Given the description of an element on the screen output the (x, y) to click on. 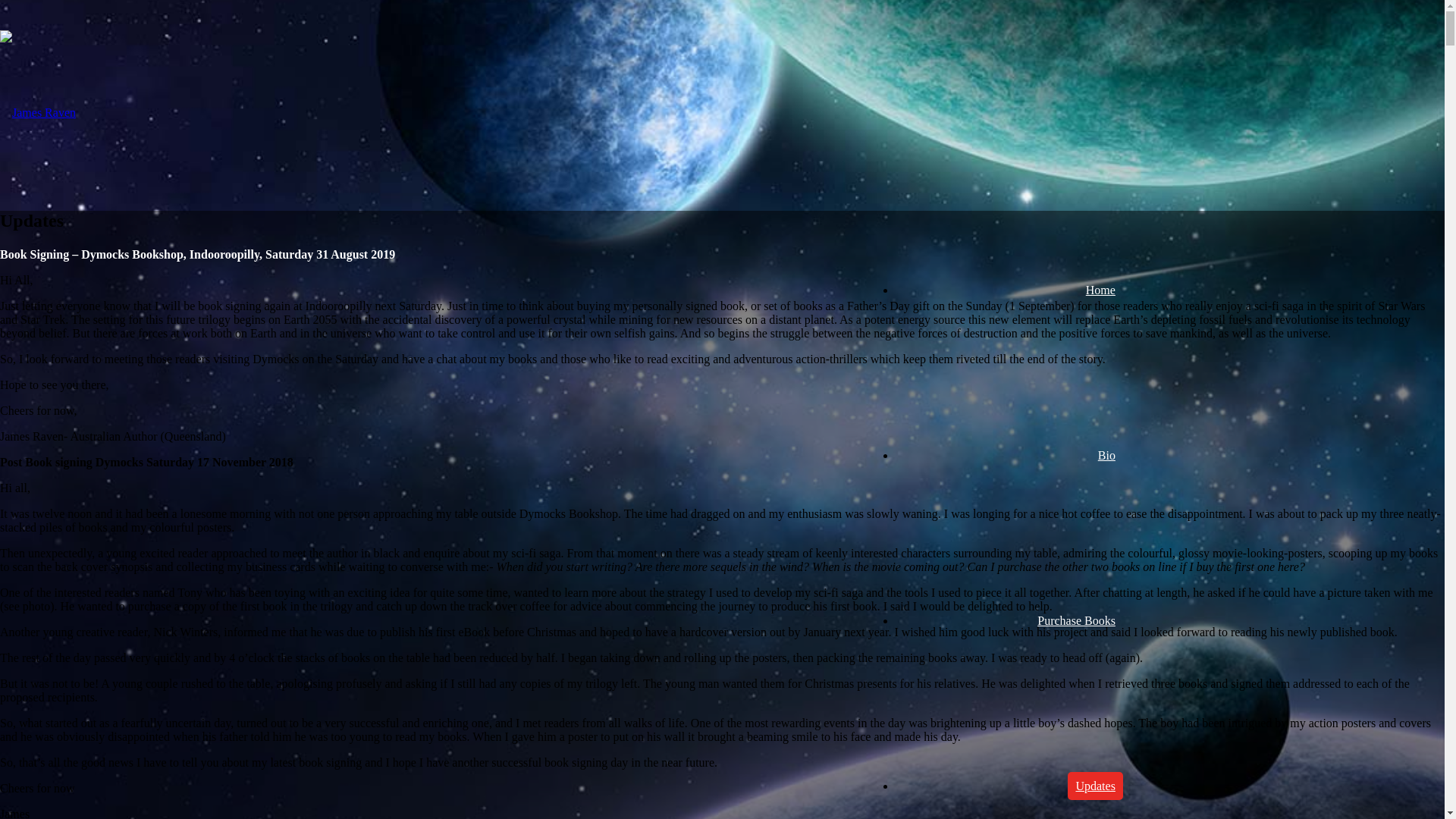
Bio Element type: text (1106, 455)
jamesravenlogo Element type: hover (37, 112)
Updates Element type: text (1094, 785)
Home Element type: text (1100, 290)
Purchase Books Element type: text (1076, 620)
